Given the description of an element on the screen output the (x, y) to click on. 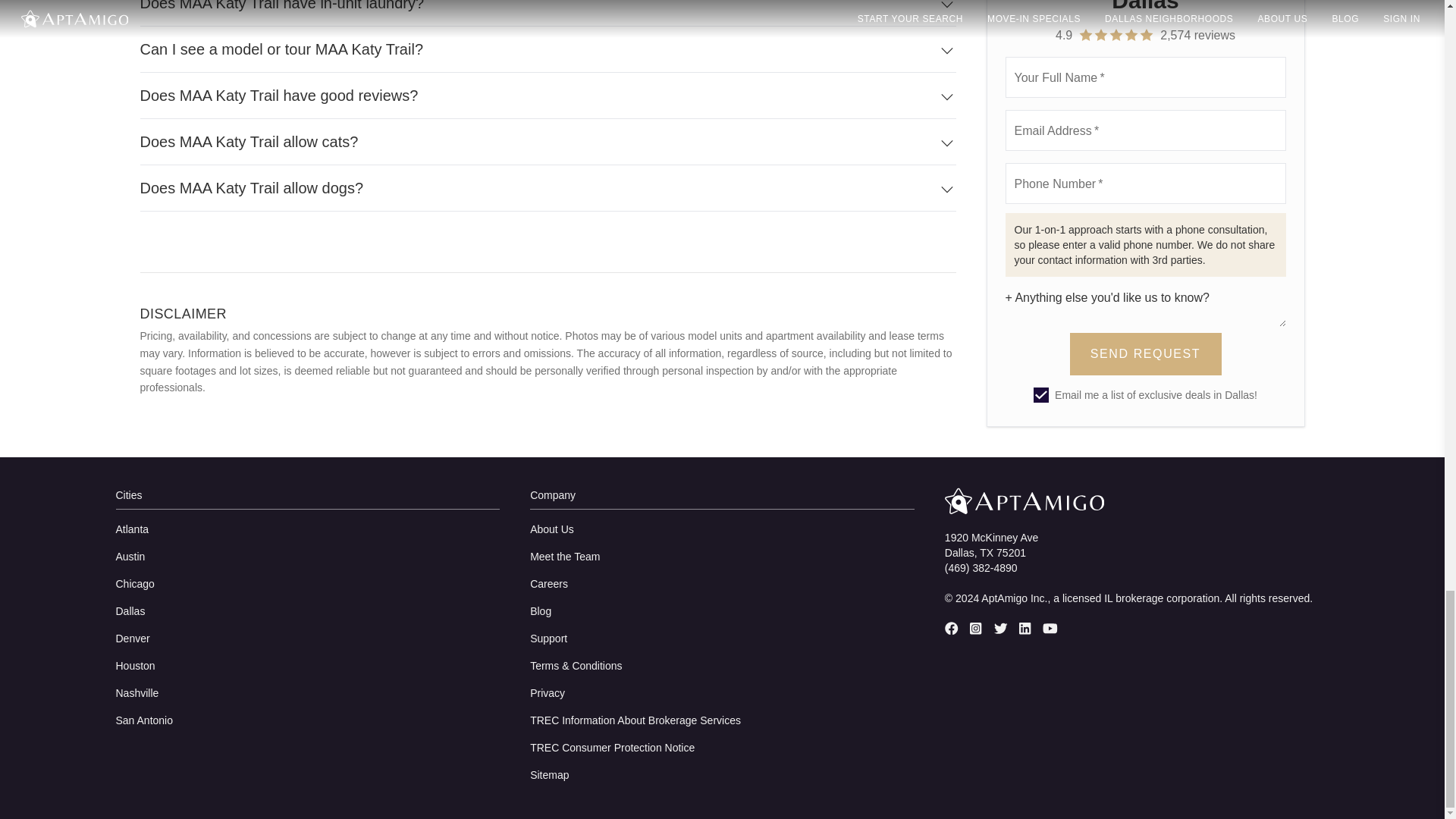
Does MAA Katy Trail have good reviews? (547, 95)
Does MAA Katy Trail have in-unit laundry? (547, 13)
Can I see a model or tour MAA Katy Trail? (547, 49)
Does MAA Katy Trail allow cats? (547, 141)
Does MAA Katy Trail allow dogs? (547, 188)
